Given the description of an element on the screen output the (x, y) to click on. 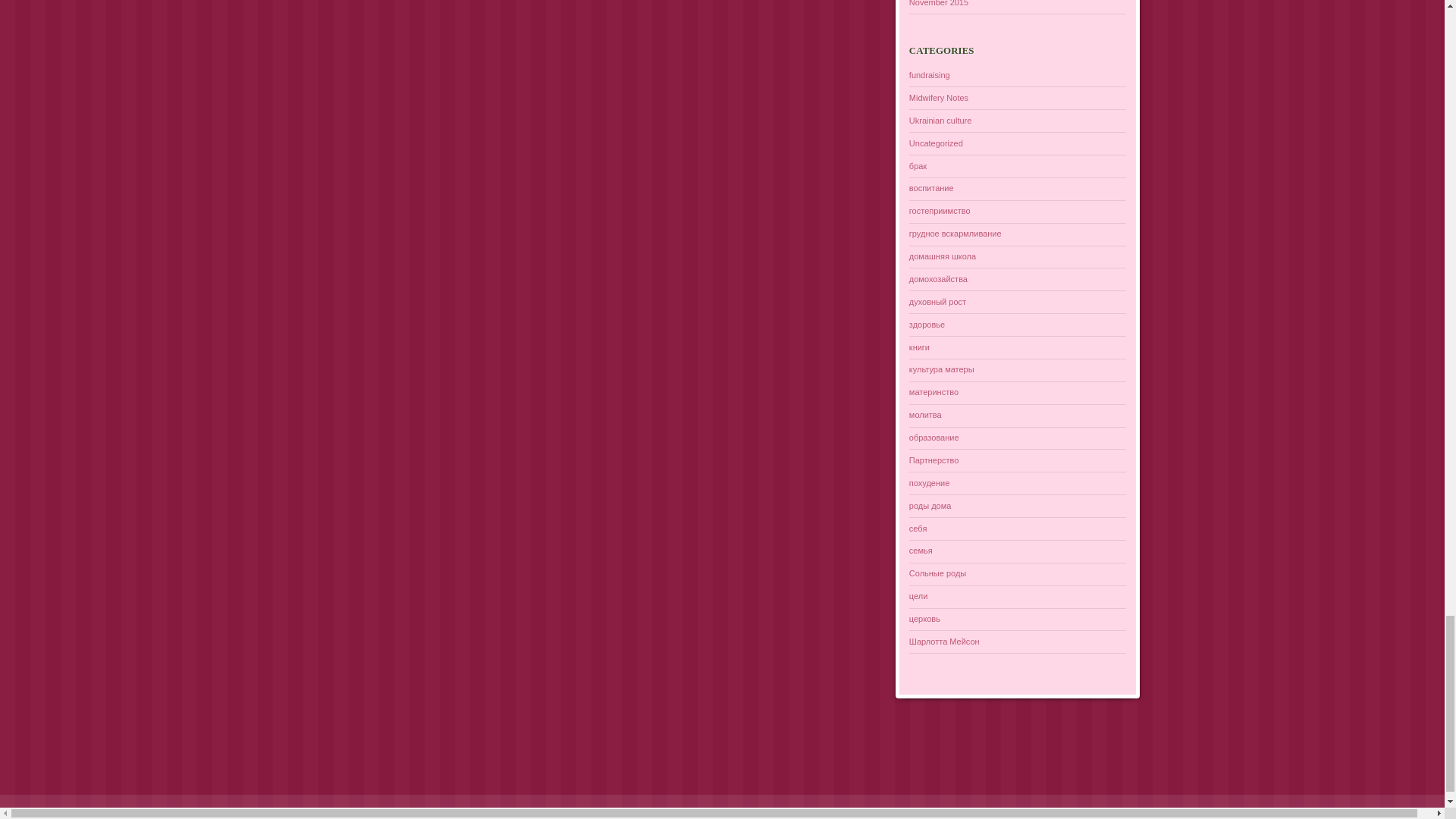
Semantic Personal Publishing Platform (108, 810)
